Given the description of an element on the screen output the (x, y) to click on. 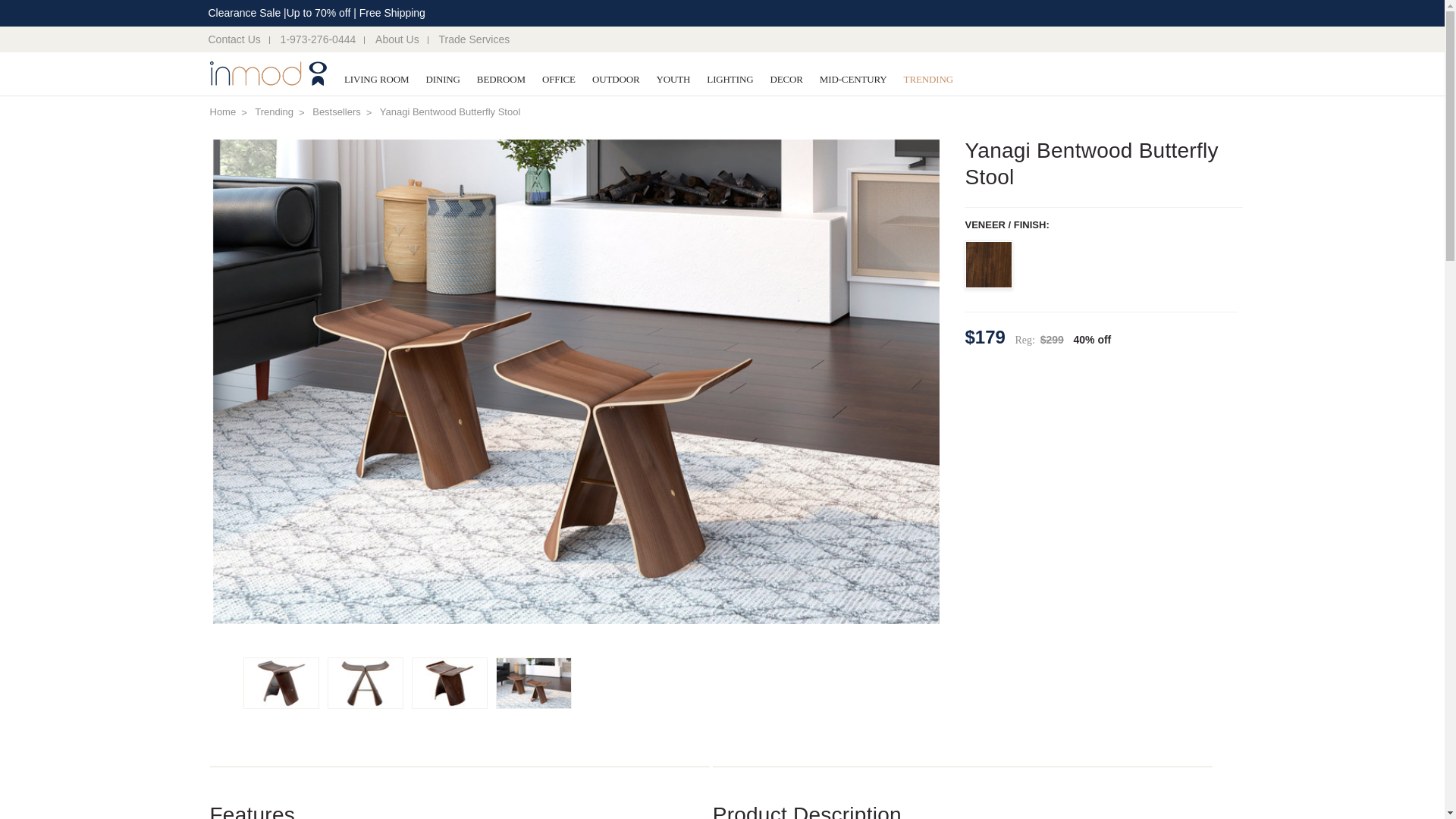
About Us (397, 39)
DINING (441, 79)
Yanagi Bentwood Butterfly Stool lifestyle (534, 683)
Show All (352, 79)
Trade Services (474, 39)
LIVING ROOM (376, 79)
1-973-276-0444 (318, 39)
Call Us (318, 39)
Yanagi Bentwood Butterfly Stool (365, 683)
Inmod (267, 73)
